Given the description of an element on the screen output the (x, y) to click on. 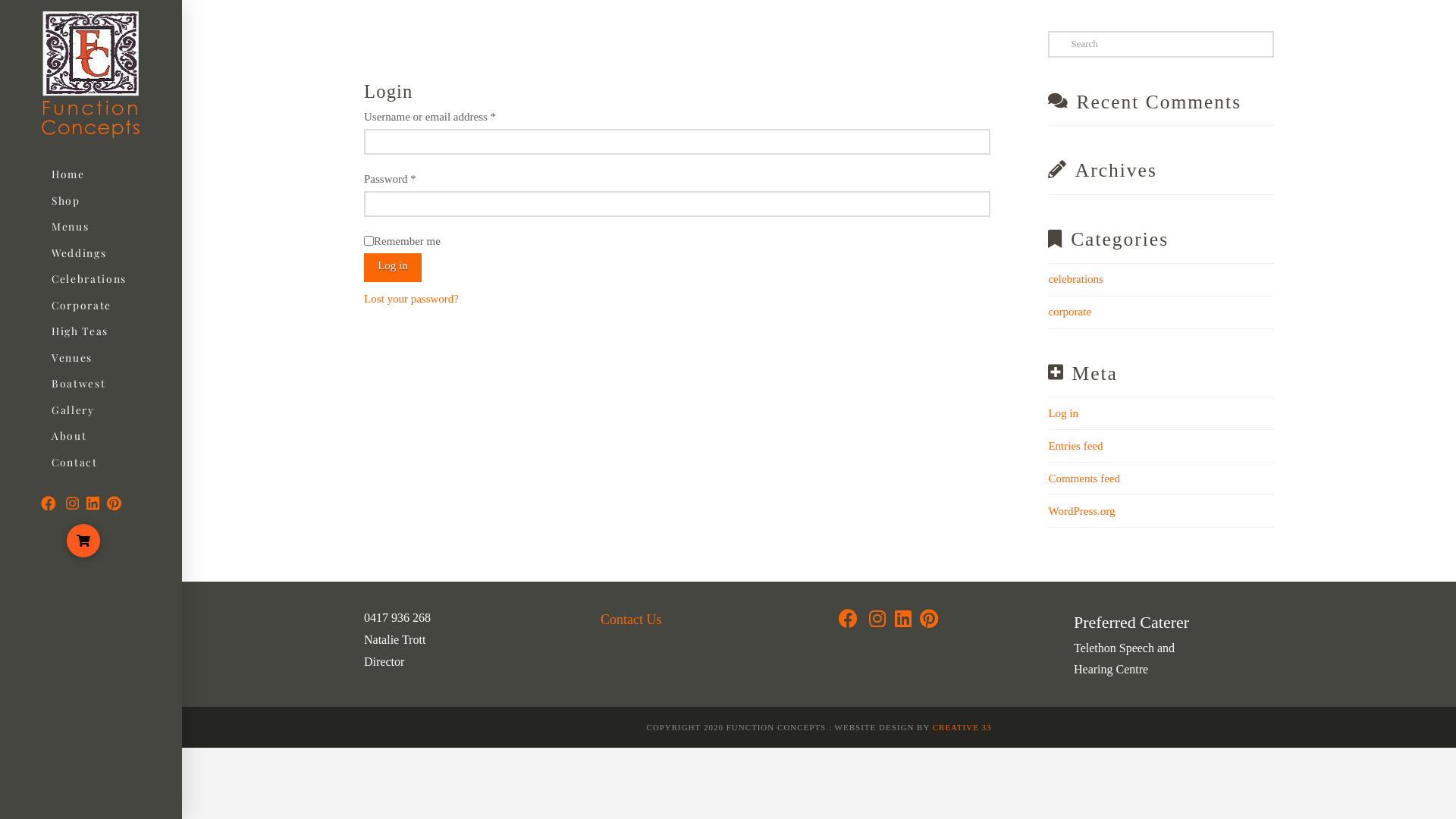
Log in Element type: text (392, 267)
corporate Element type: text (1069, 311)
Celebrations Element type: text (88, 278)
CREATIVE 33 Element type: text (961, 726)
celebrations Element type: text (1075, 279)
Entries feed Element type: text (1075, 445)
Gallery Element type: text (72, 410)
Lost your password? Element type: text (411, 298)
Home Element type: text (67, 174)
WordPress.org Element type: text (1081, 511)
Venues Element type: text (70, 357)
Log in Element type: text (1063, 413)
Contact Element type: text (73, 462)
Instagram Element type: hover (877, 621)
Facebook Element type: hover (47, 503)
Comments feed Element type: text (1084, 478)
About Element type: text (68, 435)
Corporate Element type: text (80, 305)
linkedin Element type: hover (92, 503)
Facebook Element type: hover (848, 621)
Boatwest Element type: text (77, 383)
Instagram Element type: hover (71, 503)
Shop Element type: text (64, 200)
High Teas Element type: text (78, 331)
Menus Element type: text (69, 226)
Contact Us Element type: text (631, 619)
pinterest Element type: hover (928, 621)
Weddings Element type: text (78, 253)
pinterest Element type: hover (113, 503)
linkedin Element type: hover (903, 621)
